Given the description of an element on the screen output the (x, y) to click on. 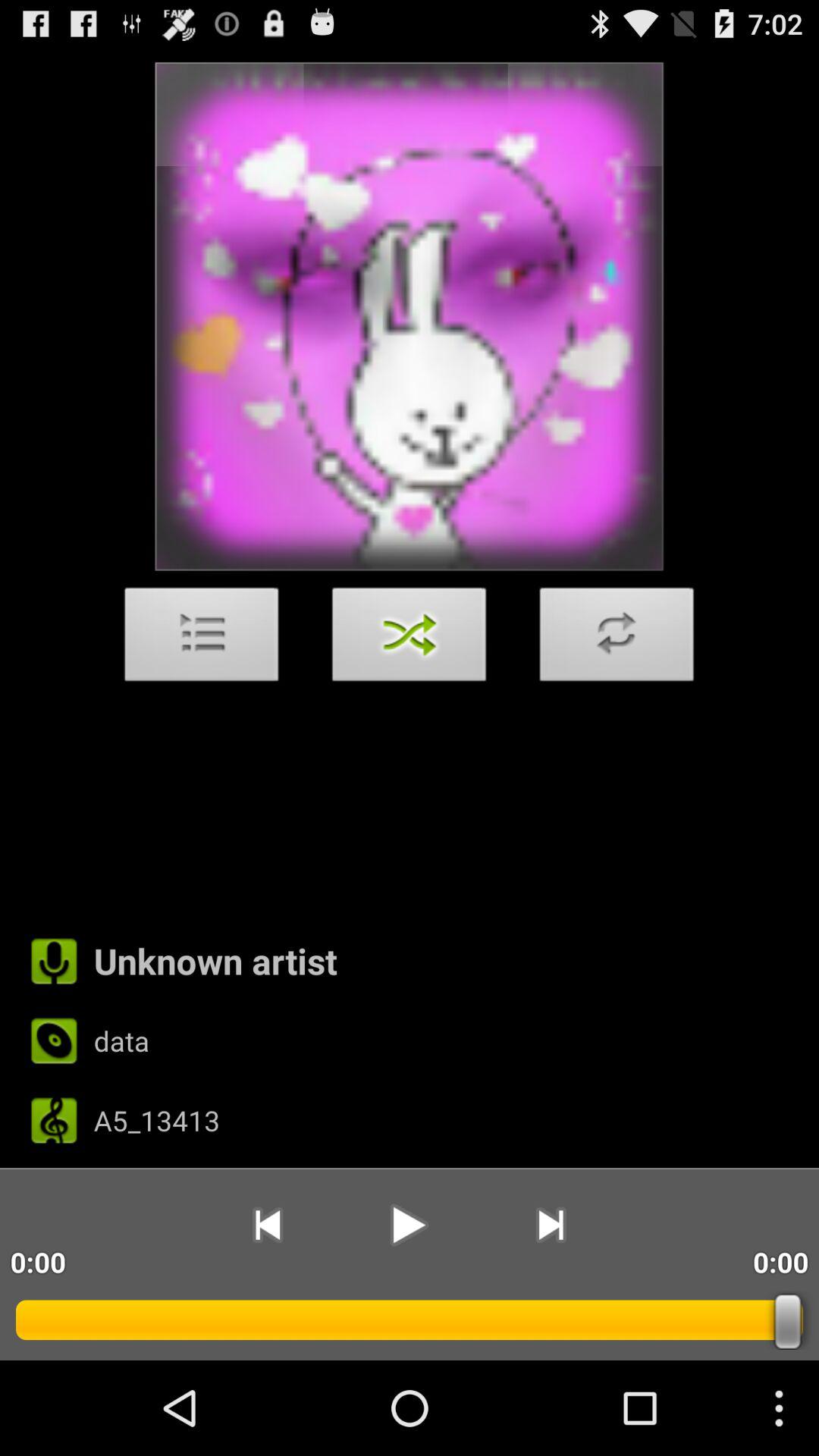
press icon on the right (616, 638)
